Given the description of an element on the screen output the (x, y) to click on. 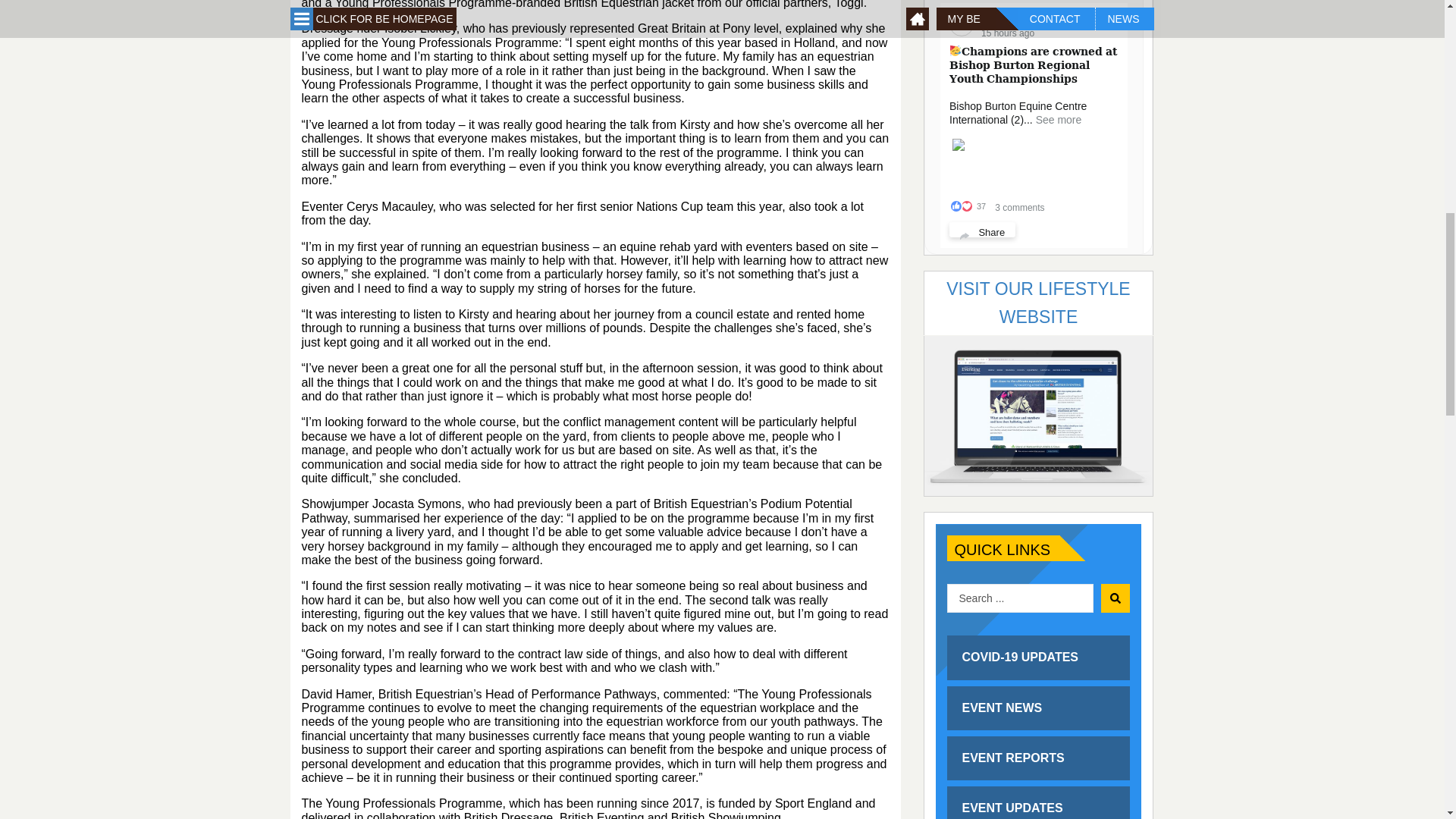
Like: 157 (955, 653)
Like: 101 (955, 457)
Like: 34 (955, 205)
Love: 3 (966, 205)
Love: 71 (966, 653)
Love: 29 (966, 457)
